Given the description of an element on the screen output the (x, y) to click on. 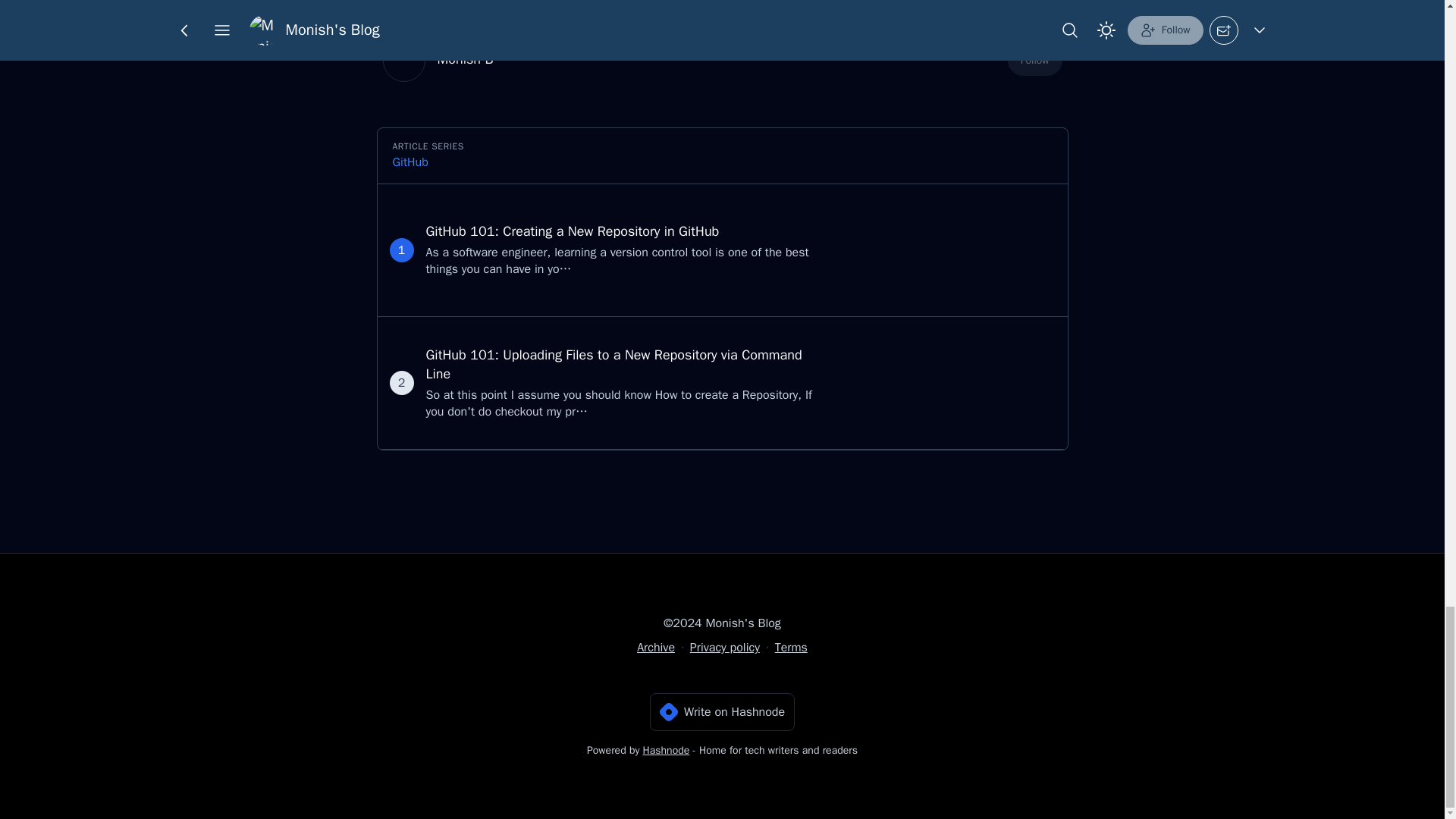
Follow (1034, 60)
GitHub (410, 161)
Monish B (464, 58)
GitHub 101: Creating a New Repository in GitHub (572, 230)
